Given the description of an element on the screen output the (x, y) to click on. 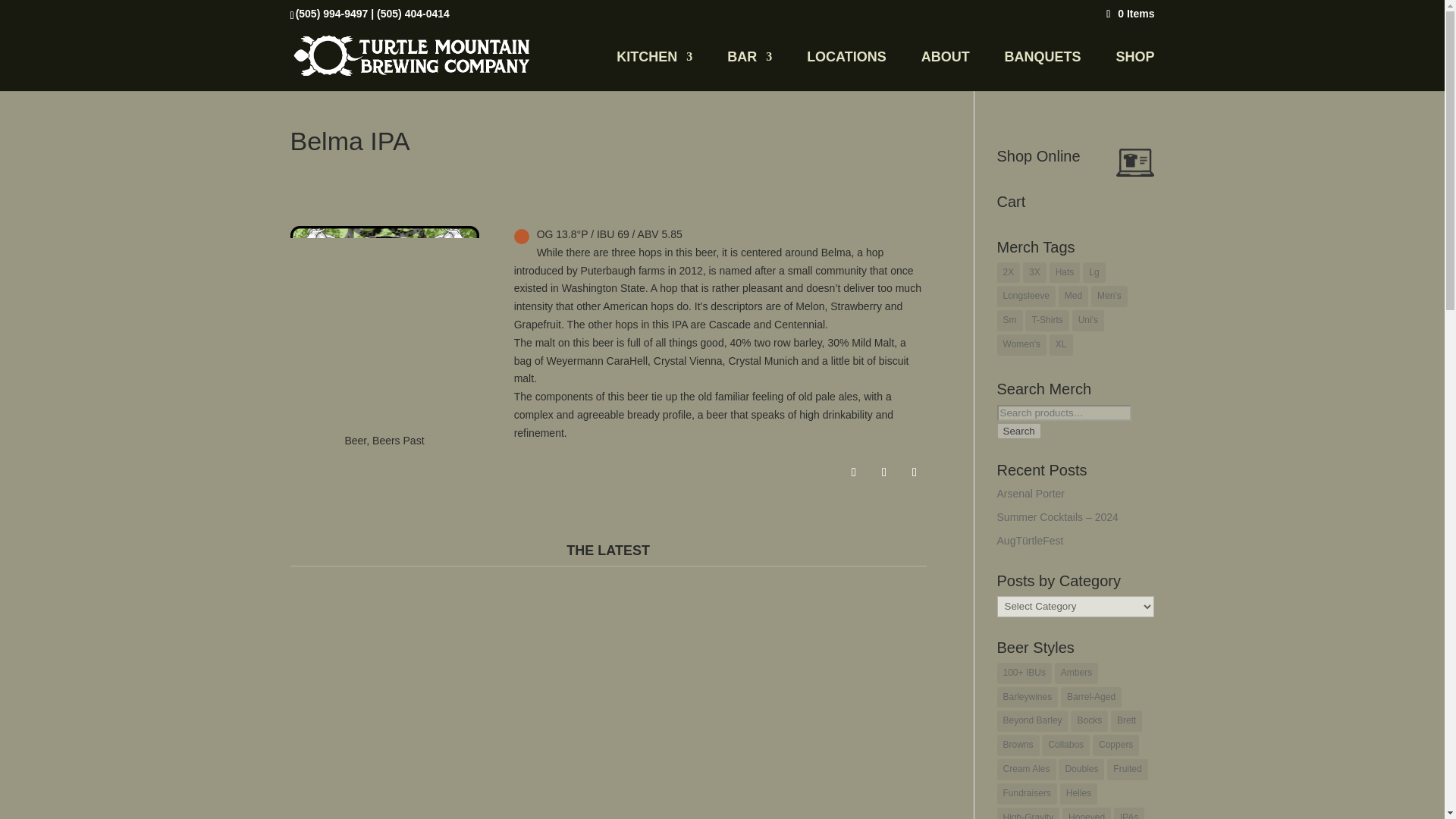
BAR (748, 70)
Lg (1094, 272)
2X (1008, 272)
Follow on Twitter (884, 472)
Hats (1064, 272)
KITCHEN (654, 70)
Longsleeve (1026, 296)
Beer (354, 440)
0 Items (1128, 13)
Med (1072, 296)
